Given the description of an element on the screen output the (x, y) to click on. 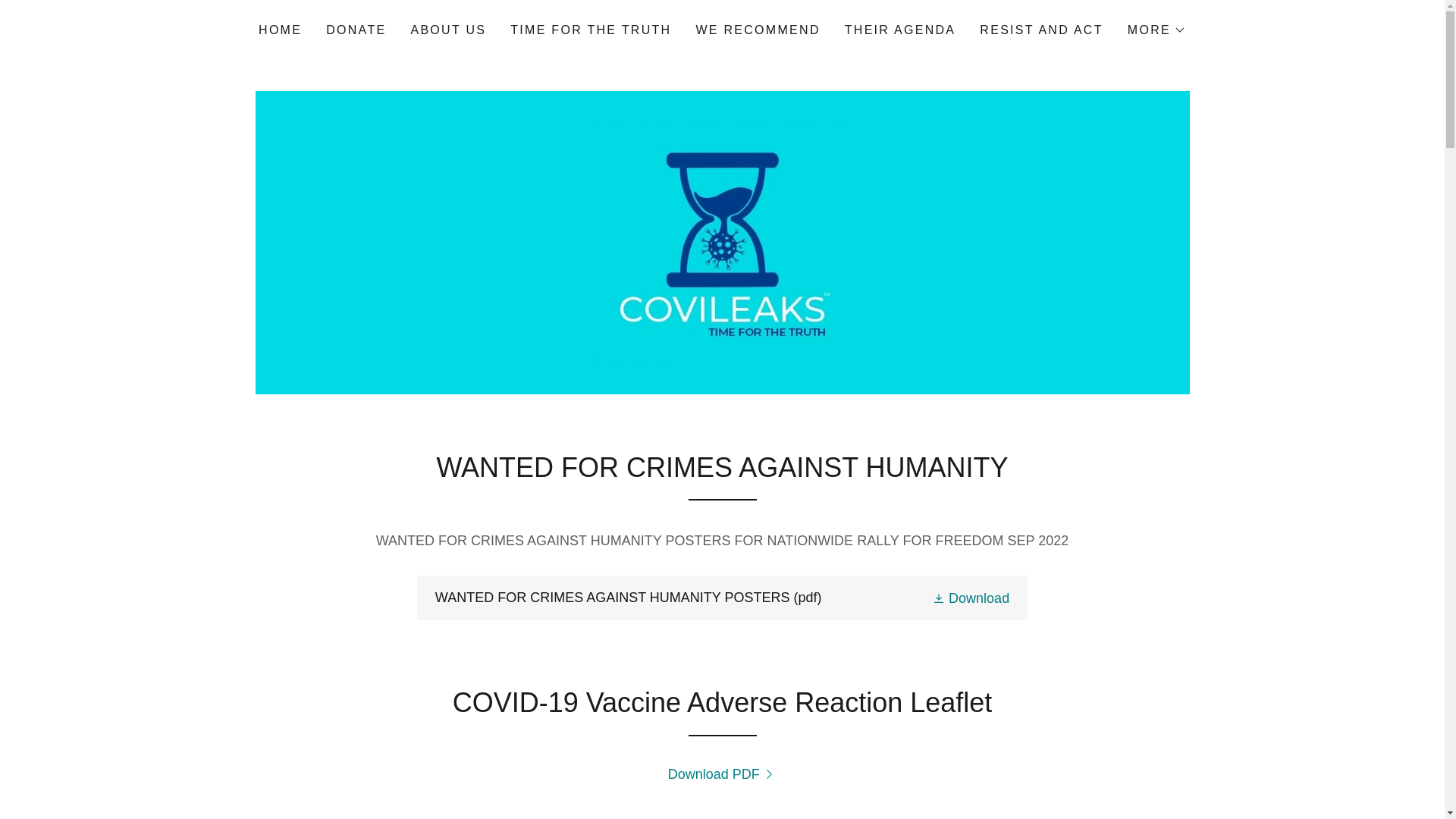
RESIST AND ACT (1040, 30)
ABOUT US (448, 30)
MORE (1156, 30)
HOME (279, 30)
TIME FOR THE TRUTH (590, 30)
Download PDF (722, 774)
CoviLeaks (722, 241)
DONATE (355, 30)
THEIR AGENDA (900, 30)
WE RECOMMEND (757, 30)
